Given the description of an element on the screen output the (x, y) to click on. 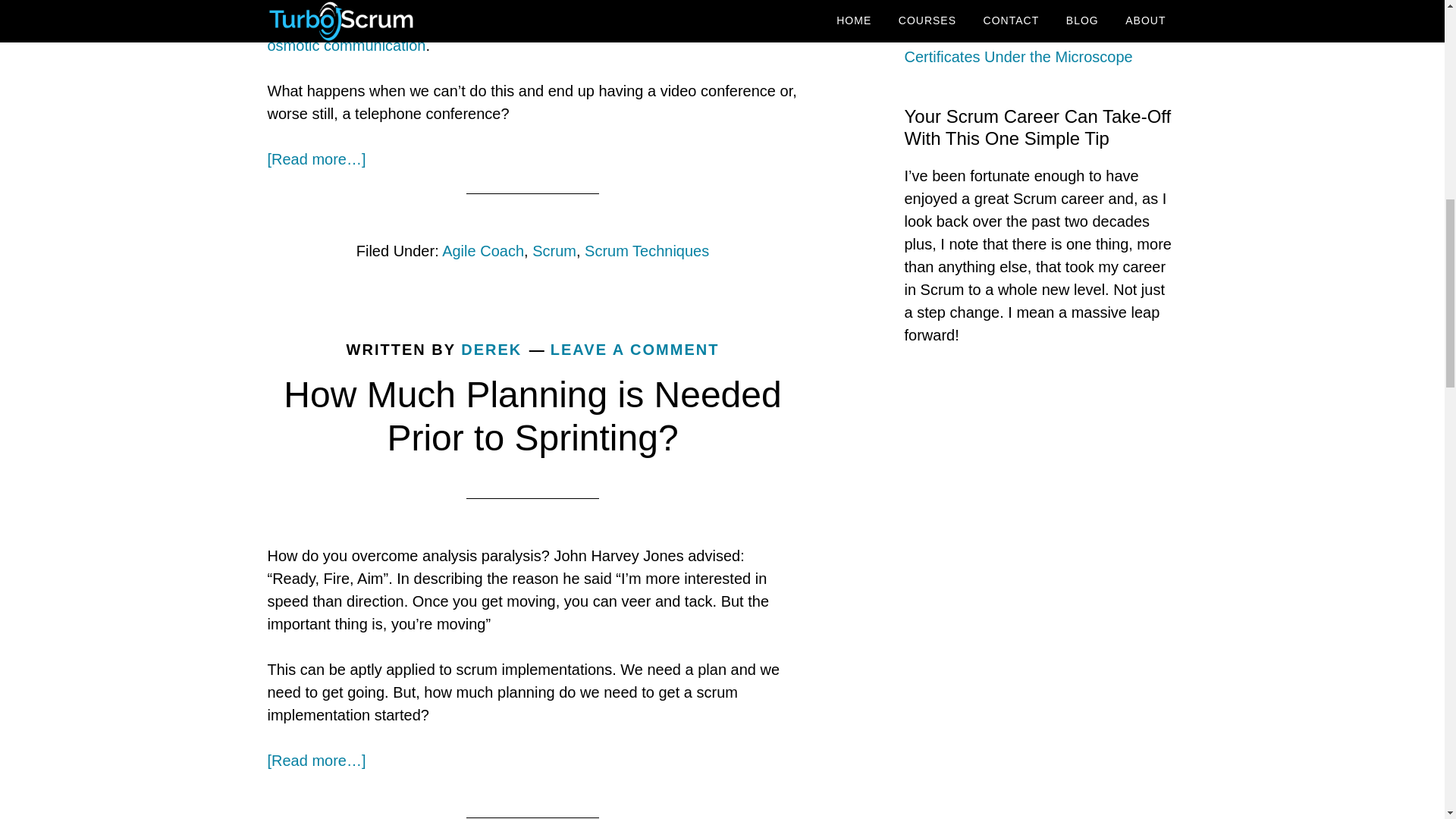
Agile Coach (483, 250)
DEREK (491, 349)
Scrum (554, 250)
LEAVE A COMMENT (634, 349)
Scrum Techniques (647, 250)
osmotic communication (345, 45)
How Much Planning is Needed Prior to Sprinting? (531, 416)
